Given the description of an element on the screen output the (x, y) to click on. 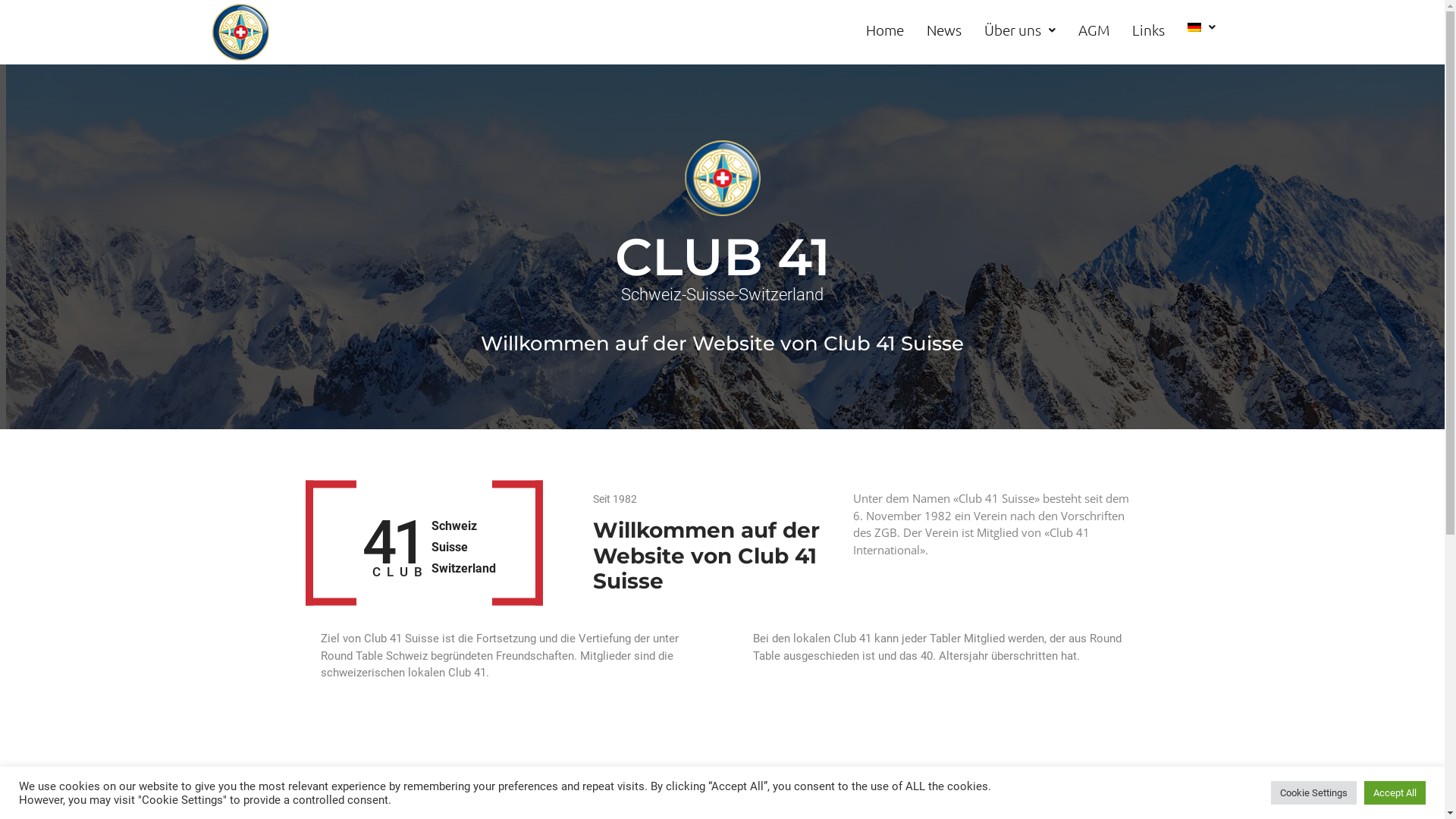
Cookie Settings Element type: text (1313, 792)
Home Element type: text (884, 29)
Links Element type: text (1148, 29)
News Element type: text (943, 29)
Accept All Element type: text (1394, 792)
AGM Element type: text (1093, 29)
logo Element type: hover (721, 178)
